Given the description of an element on the screen output the (x, y) to click on. 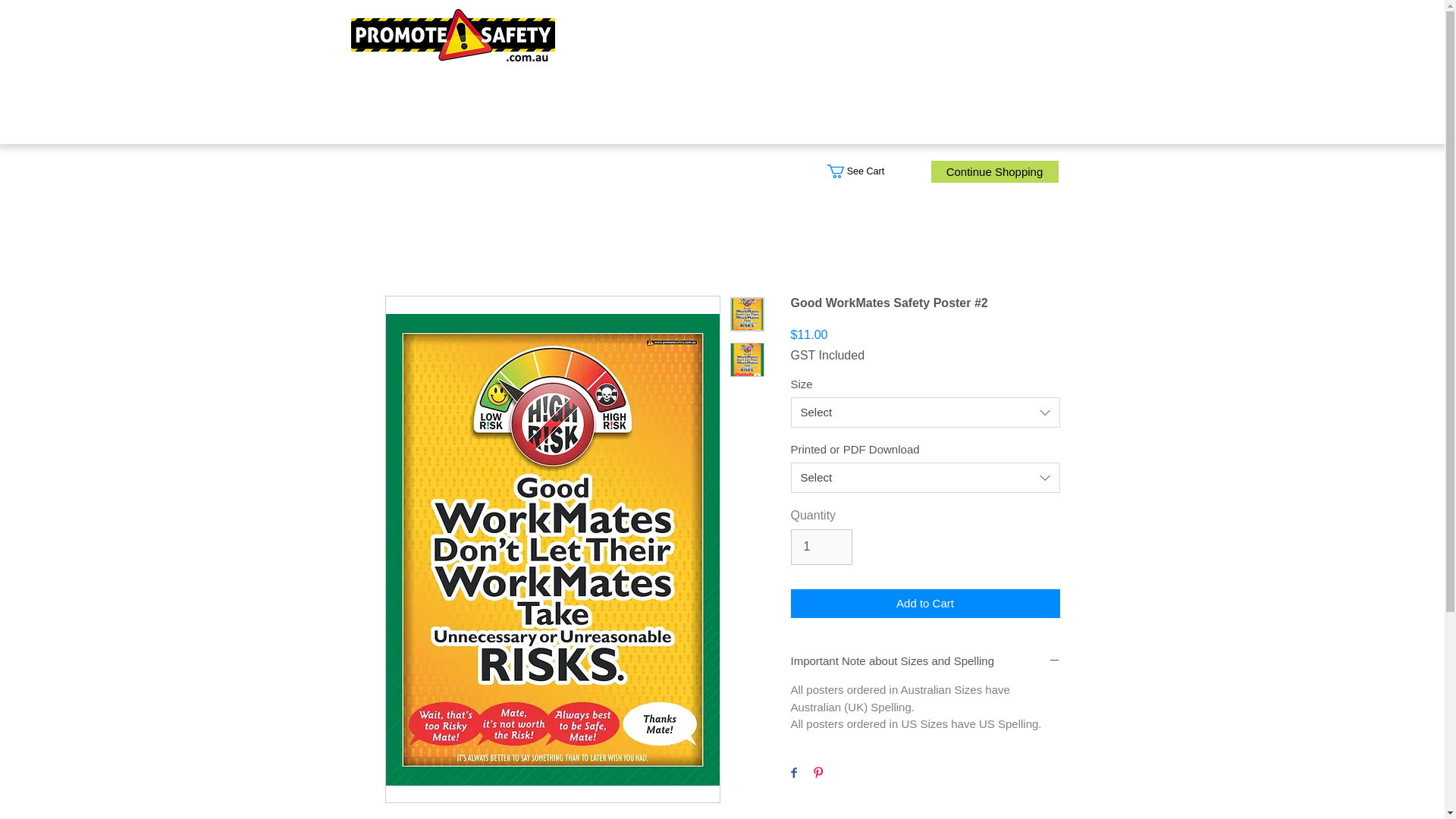
Continue Shopping (994, 171)
See Cart (865, 171)
See Cart (865, 171)
Important Note about Sizes and Spelling (924, 661)
1 (820, 546)
Add to Cart (924, 603)
Select (924, 412)
Select (924, 477)
